Given the description of an element on the screen output the (x, y) to click on. 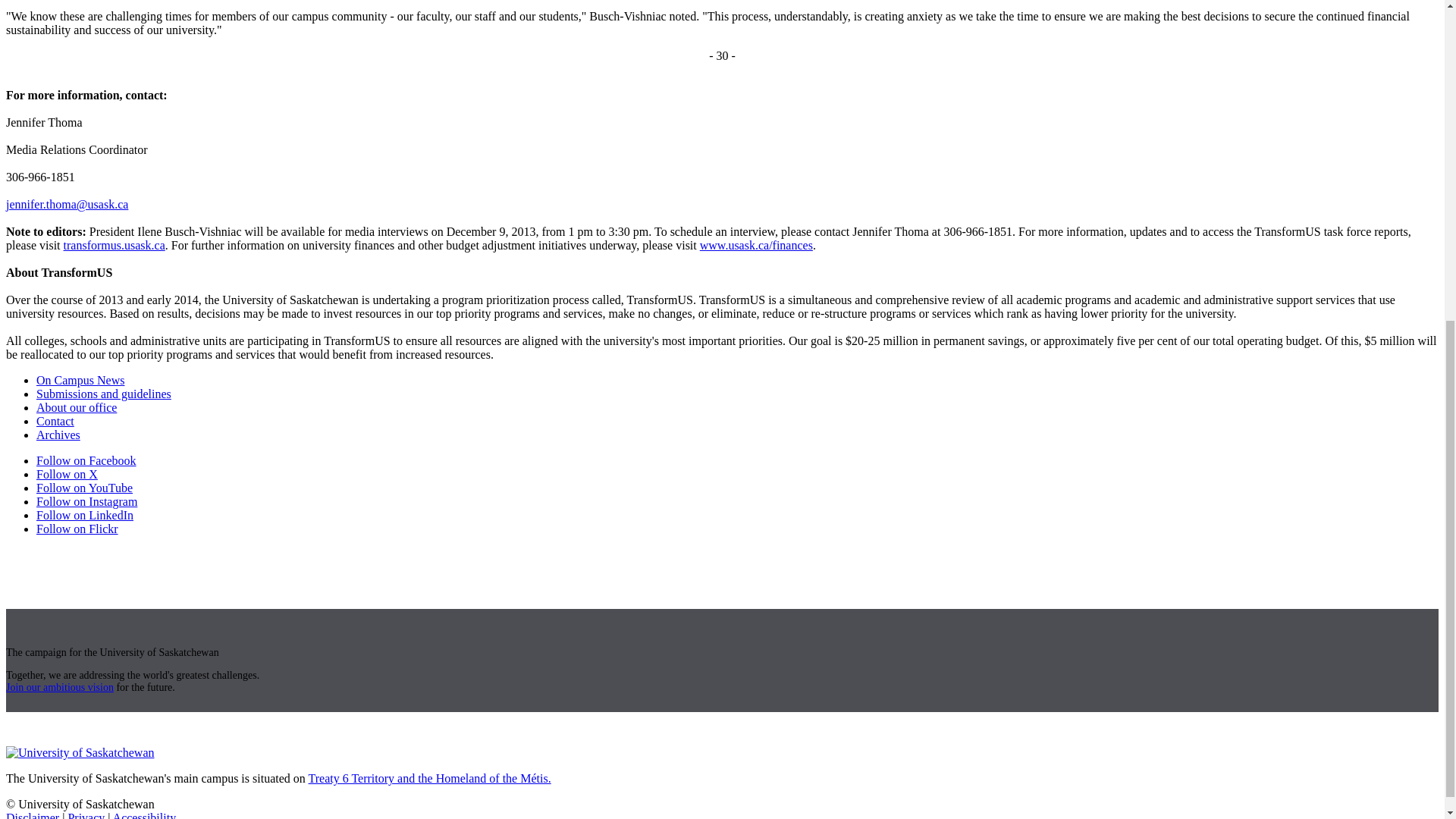
Join our ambitious vision (59, 686)
Follow on Instagram (86, 501)
Submissions and guidelines (103, 393)
Follow on YouTube (84, 487)
Archives (58, 434)
Follow on Flickr (76, 528)
Follow on Facebook (86, 460)
Contact (55, 420)
About our office (76, 407)
transformus.usask.ca (114, 245)
